Given the description of an element on the screen output the (x, y) to click on. 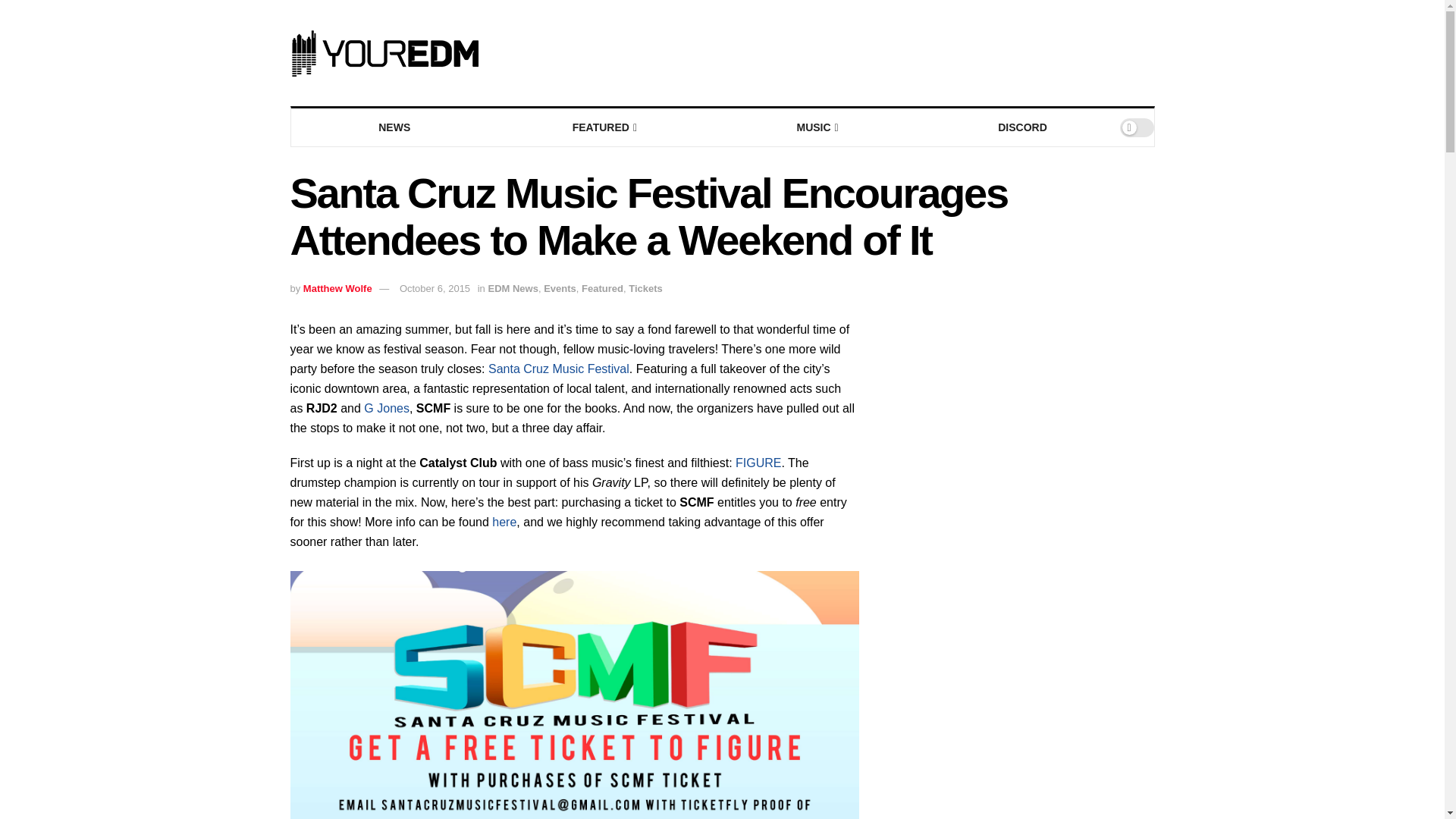
DISCORD (1021, 127)
FEATURED (603, 127)
NEWS (394, 127)
MUSIC (815, 127)
